Given the description of an element on the screen output the (x, y) to click on. 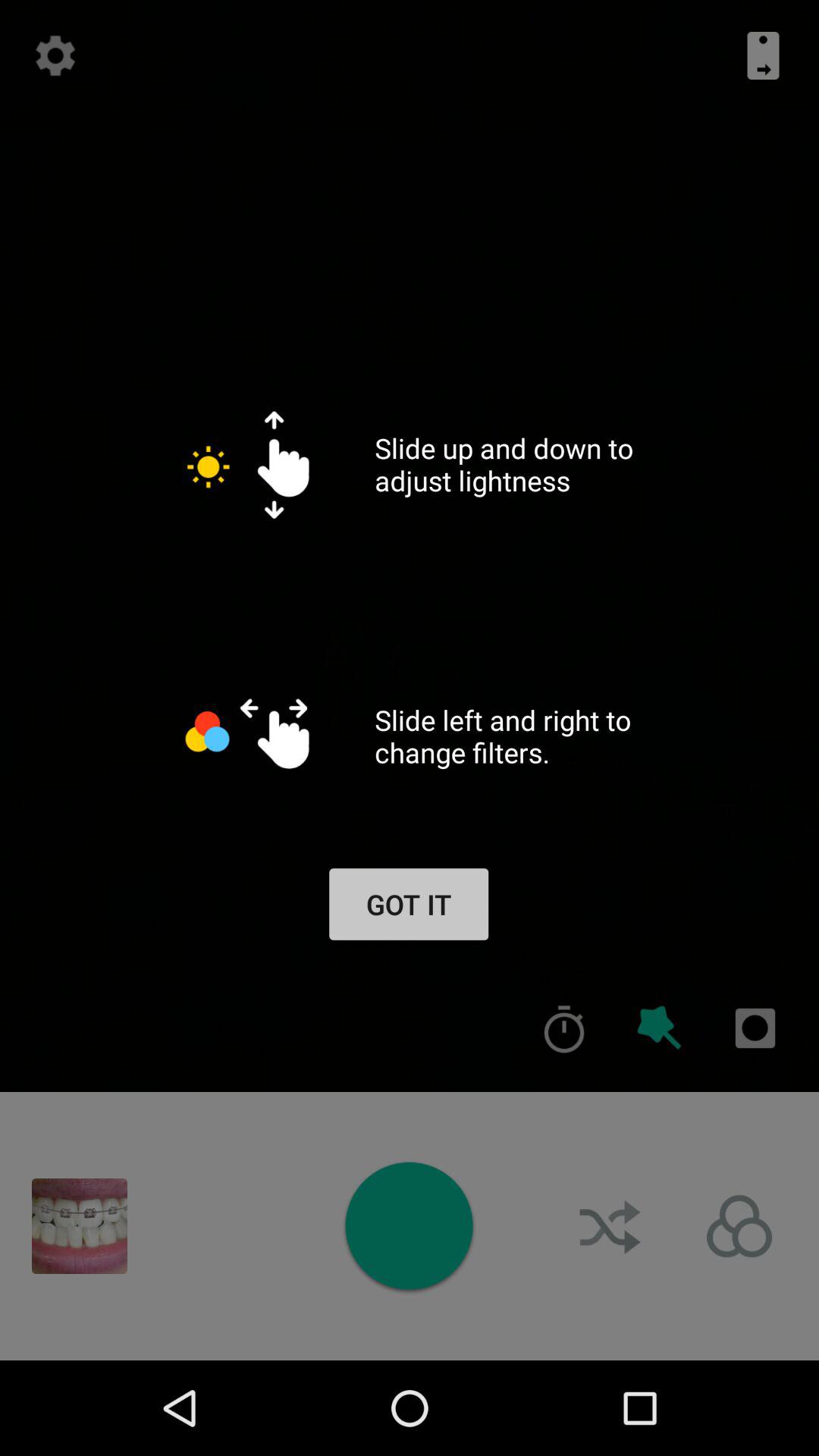
toggle shuffle mode (611, 1226)
